Given the description of an element on the screen output the (x, y) to click on. 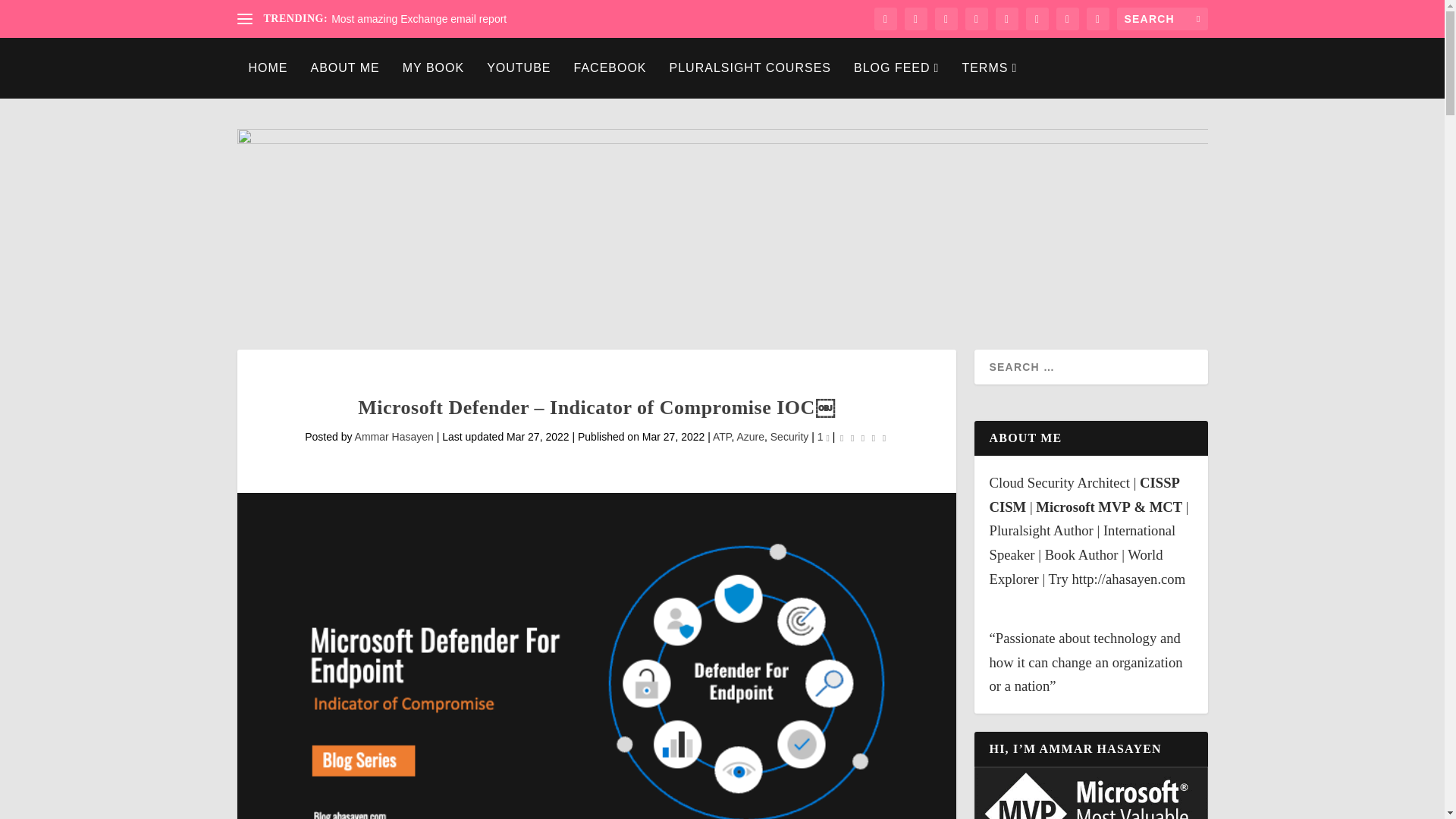
TERMS (988, 67)
MY BOOK (433, 67)
Ammar Hasayen (394, 436)
Most amazing Exchange email report (418, 19)
YOUTUBE (518, 67)
PLURALSIGHT COURSES (750, 67)
Security (789, 436)
Rating: 0.00 (863, 437)
ATP (721, 436)
BLOG FEED (896, 67)
Posts by Ammar Hasayen (394, 436)
FACEBOOK (609, 67)
Azure (750, 436)
1 (822, 436)
Search for: (1161, 18)
